Given the description of an element on the screen output the (x, y) to click on. 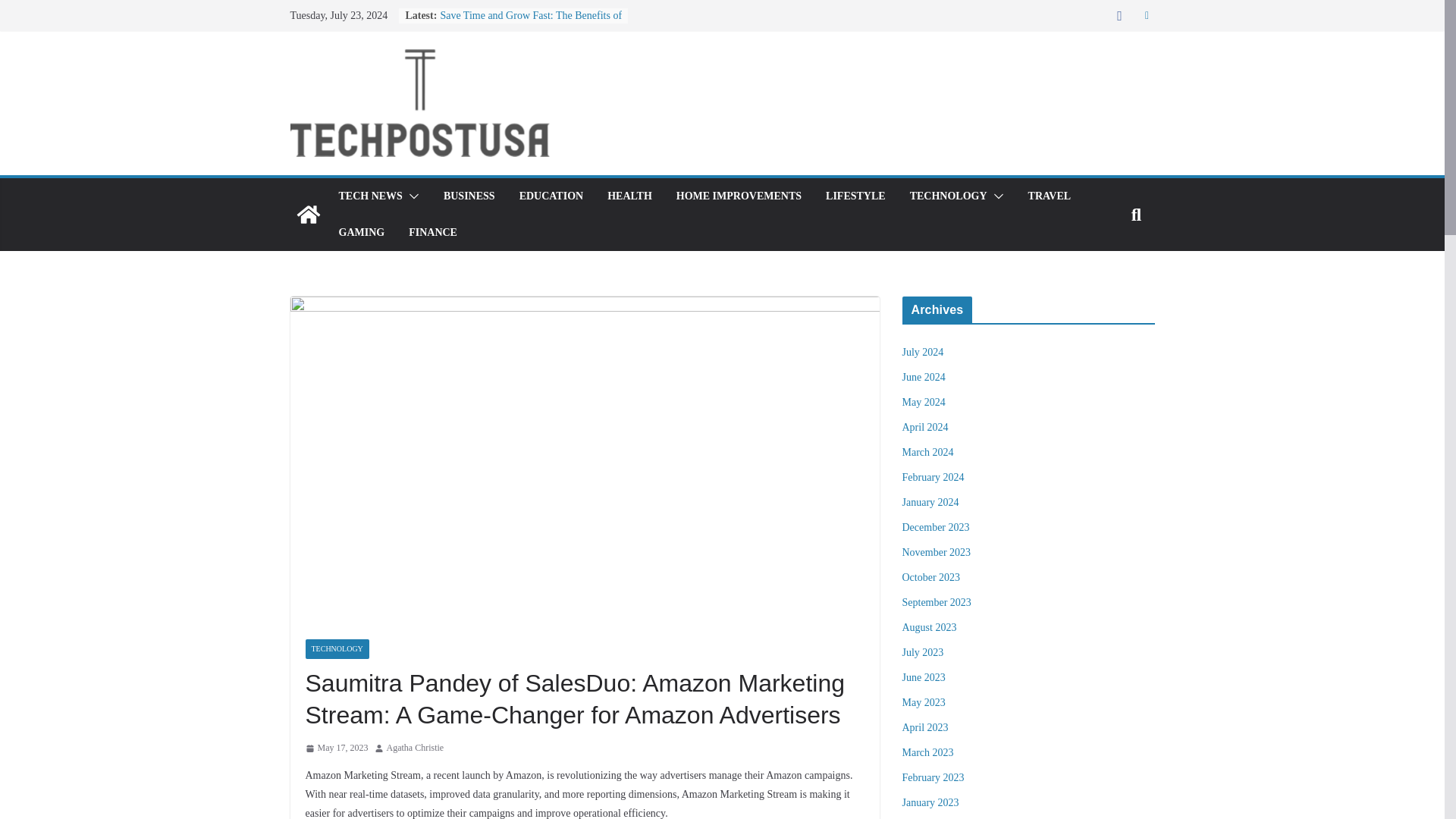
EDUCATION (551, 196)
BUSINESS (469, 196)
Agatha Christie (415, 748)
Agatha Christie (415, 748)
LIFESTYLE (855, 196)
3:06 PM (336, 748)
HOME IMPROVEMENTS (739, 196)
TECH NEWS (369, 196)
TECHNOLOGY (948, 196)
GAMING (360, 232)
TECHNOLOGY (336, 649)
Tech Post Usa (307, 214)
May 17, 2023 (336, 748)
